Given the description of an element on the screen output the (x, y) to click on. 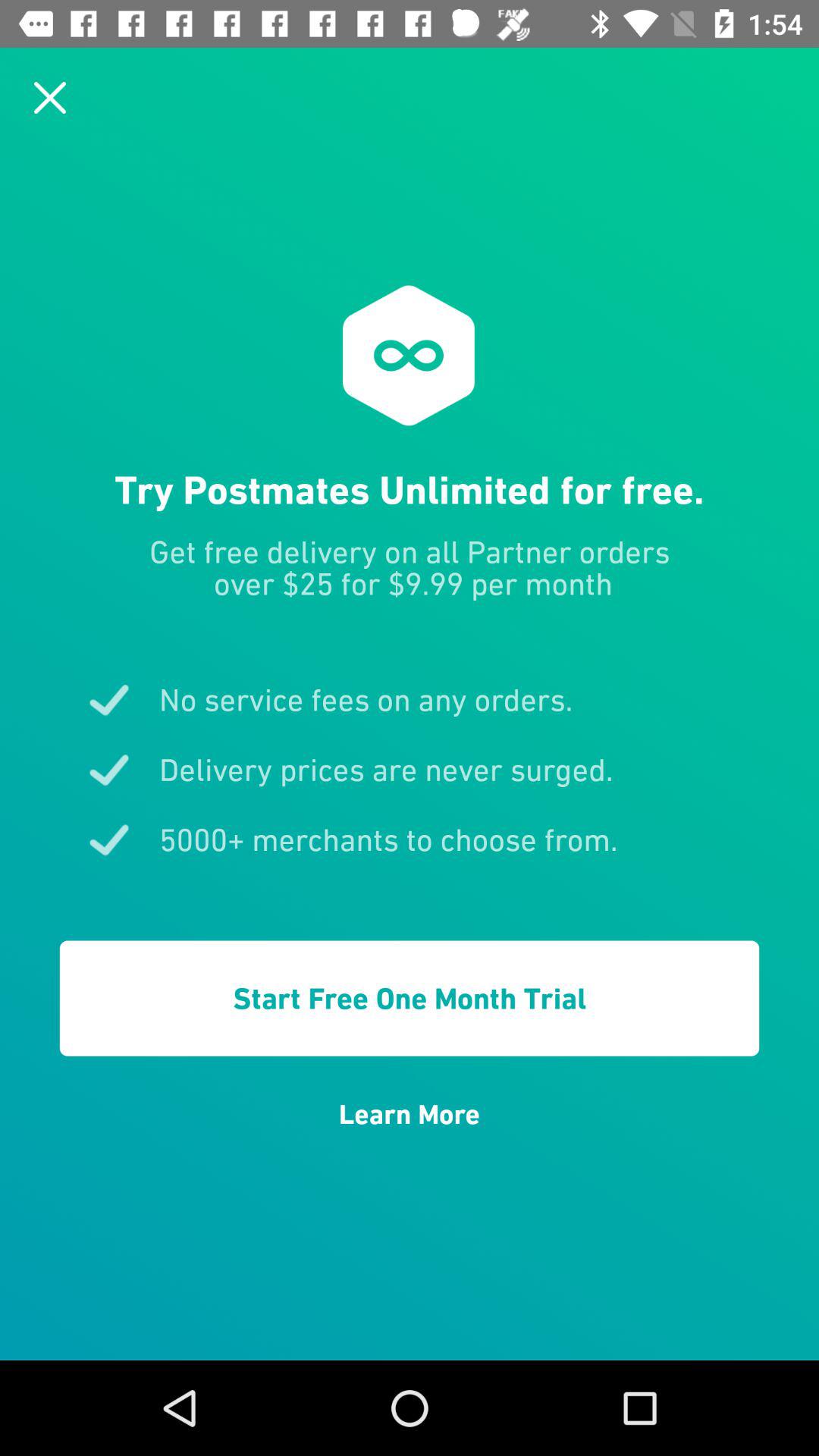
open start free one item (409, 998)
